Given the description of an element on the screen output the (x, y) to click on. 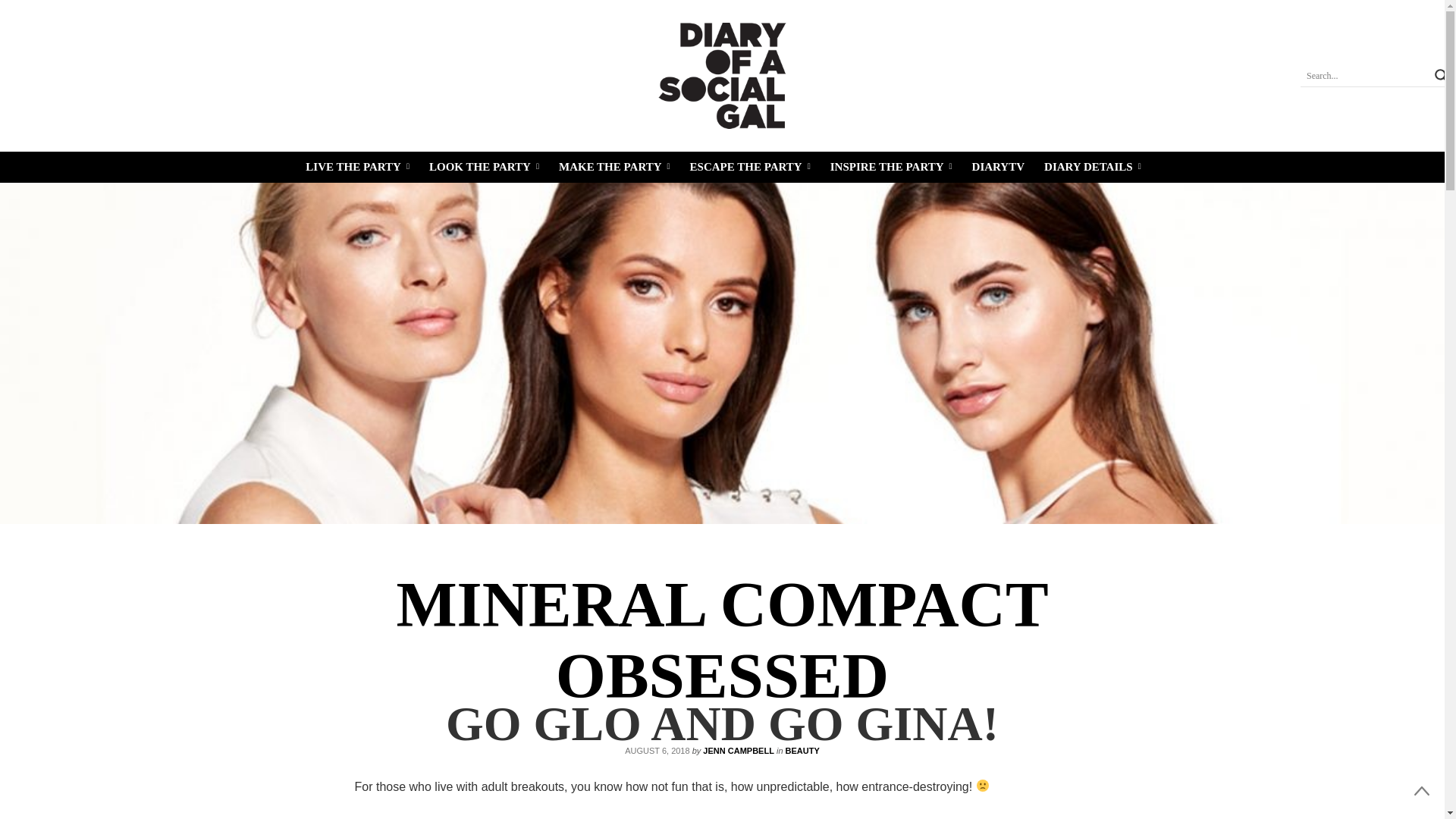
Diary of a Social Gal (722, 75)
MINERAL COMPACT OBSESSED (722, 639)
Posts by Jenn Campbell (738, 750)
